Given the description of an element on the screen output the (x, y) to click on. 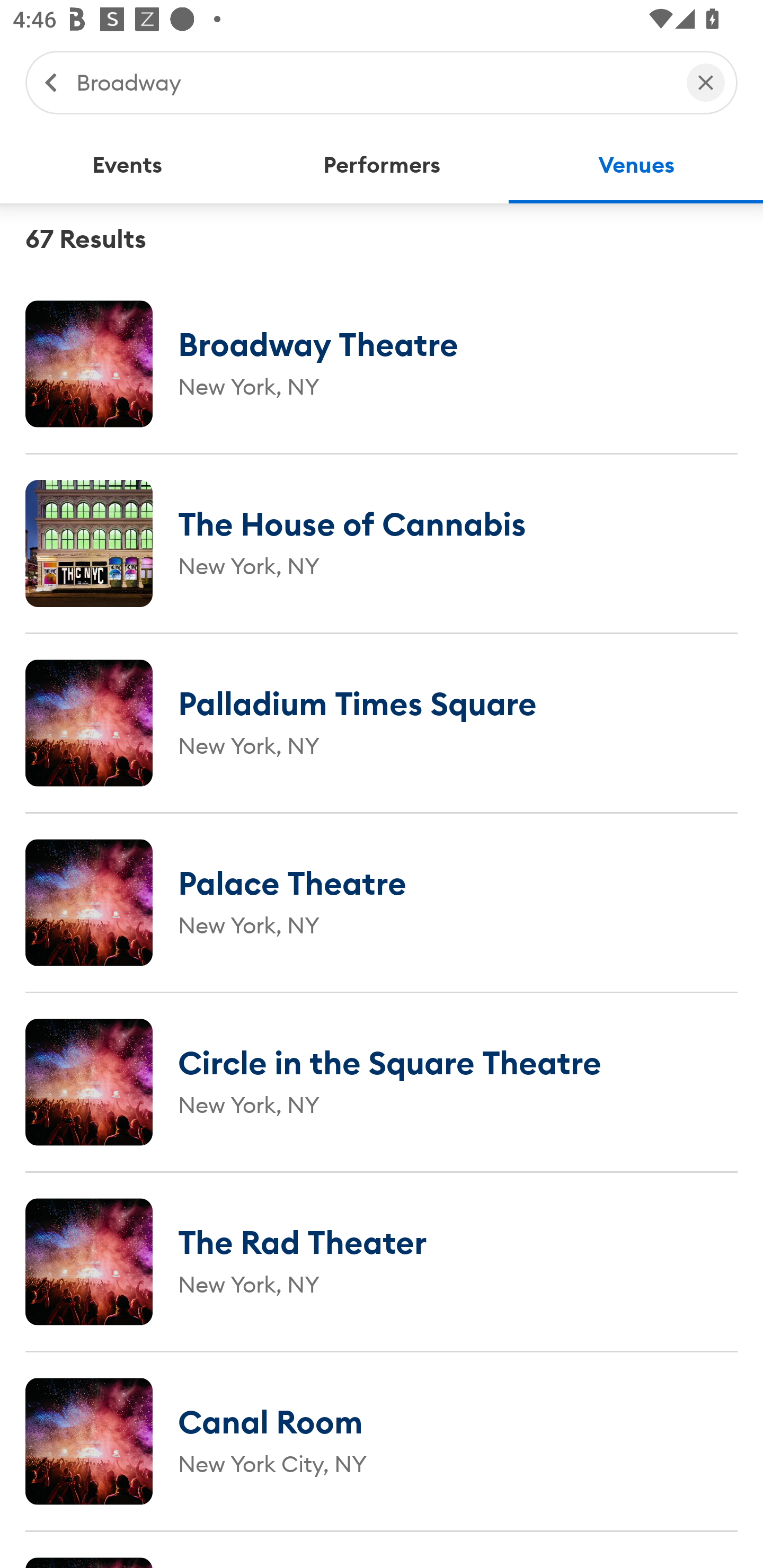
Broadway (371, 81)
Clear Search (705, 81)
Events (127, 165)
Performers (381, 165)
Broadway Theatre New York, NY (381, 363)
The House of Cannabis New York, NY (381, 542)
Palladium Times Square New York, NY (381, 722)
Palace Theatre New York, NY (381, 901)
Circle in the Square Theatre New York, NY (381, 1081)
The Rad Theater New York, NY (381, 1261)
Canal Room New York City, NY (381, 1440)
